Given the description of an element on the screen output the (x, y) to click on. 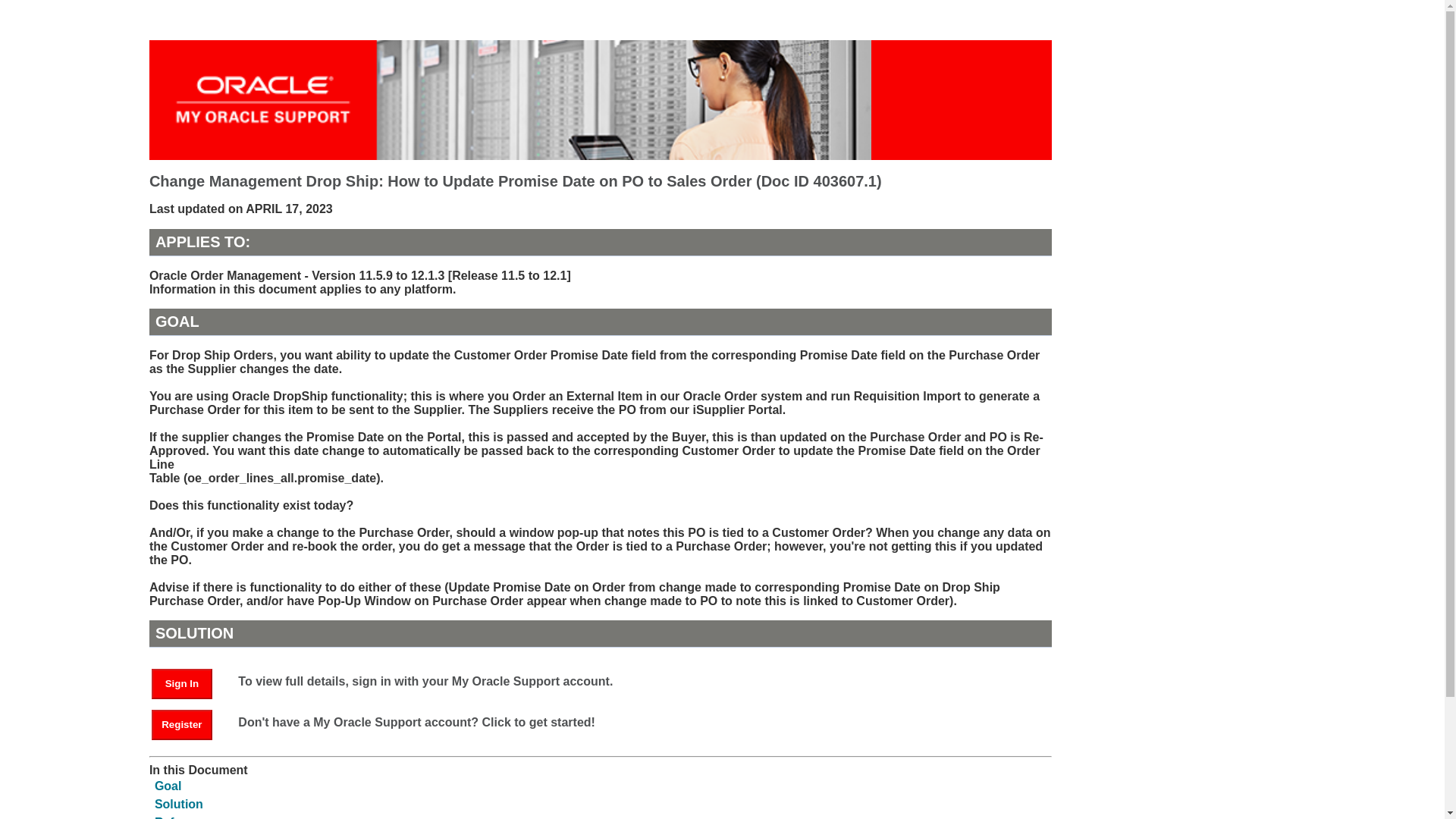
Sign In (189, 682)
Sign In (181, 684)
Goal (168, 785)
References (186, 817)
Register (181, 725)
Register (189, 723)
Solution (178, 803)
